Given the description of an element on the screen output the (x, y) to click on. 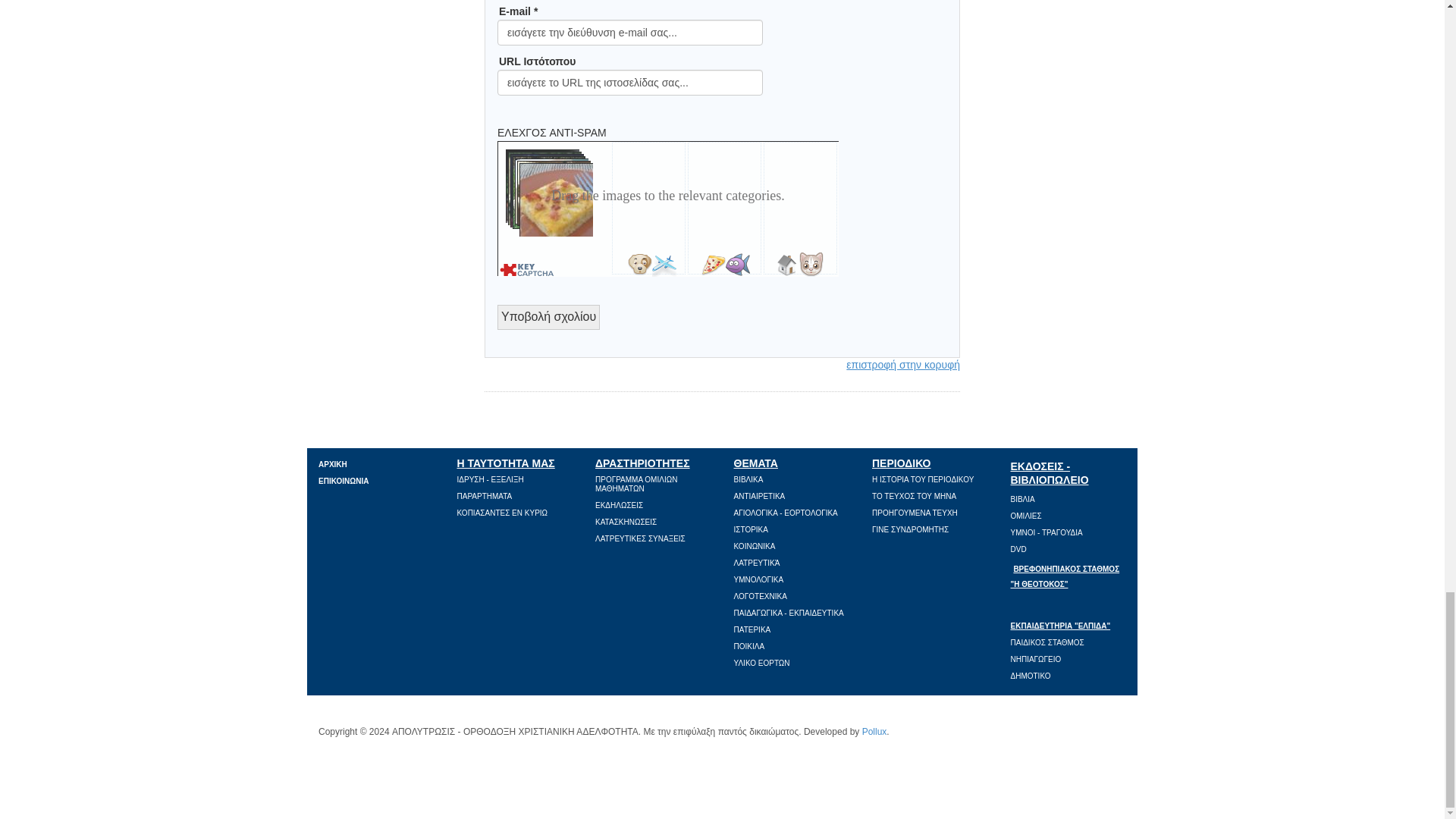
Learn more about KeyCAPTCHA (668, 269)
Visit Pollux.gr! (873, 731)
